Given the description of an element on the screen output the (x, y) to click on. 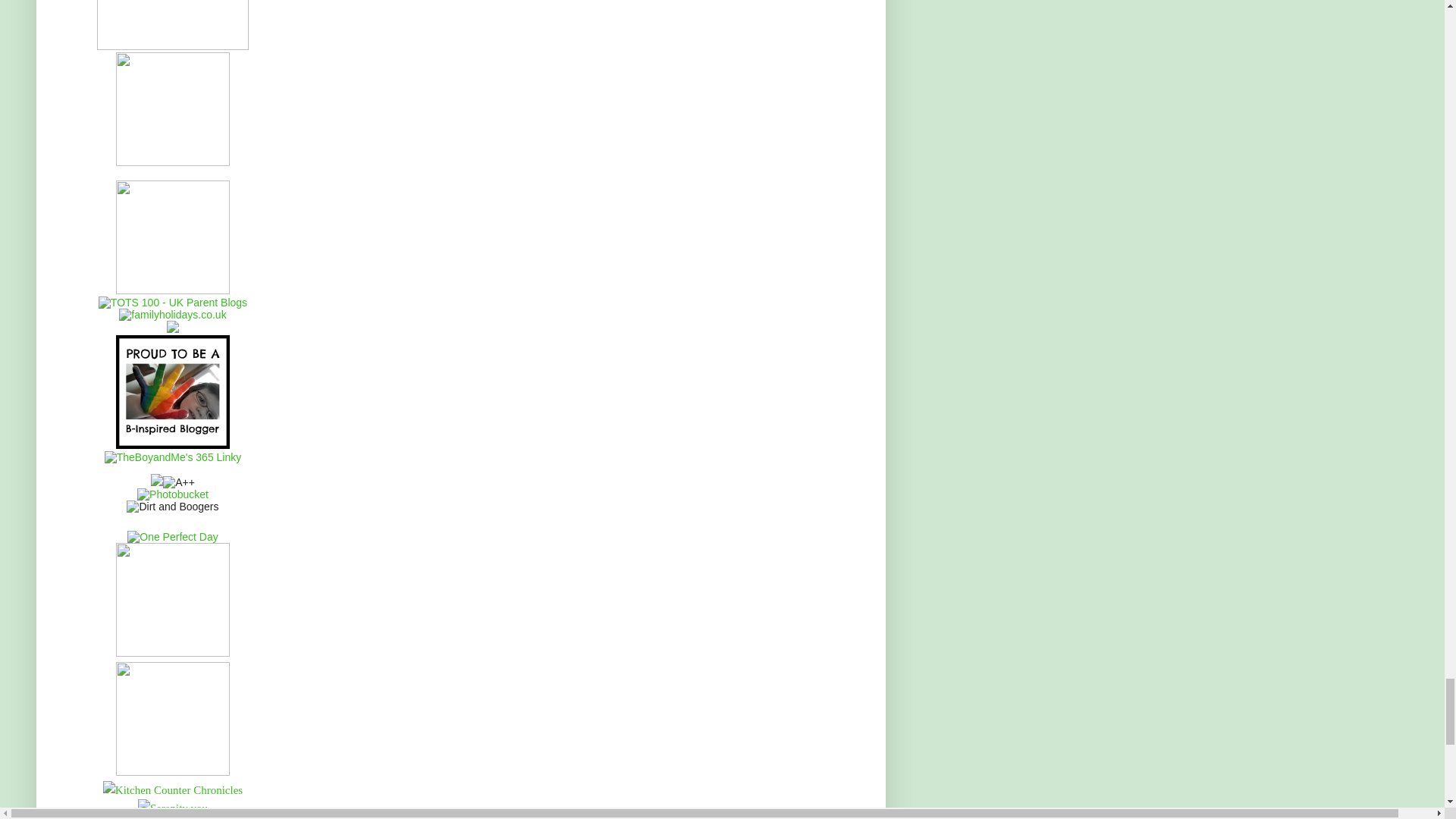
TOTS 100 - UK Parent Blogs (173, 302)
familyholidays.co.uk (172, 314)
